Given the description of an element on the screen output the (x, y) to click on. 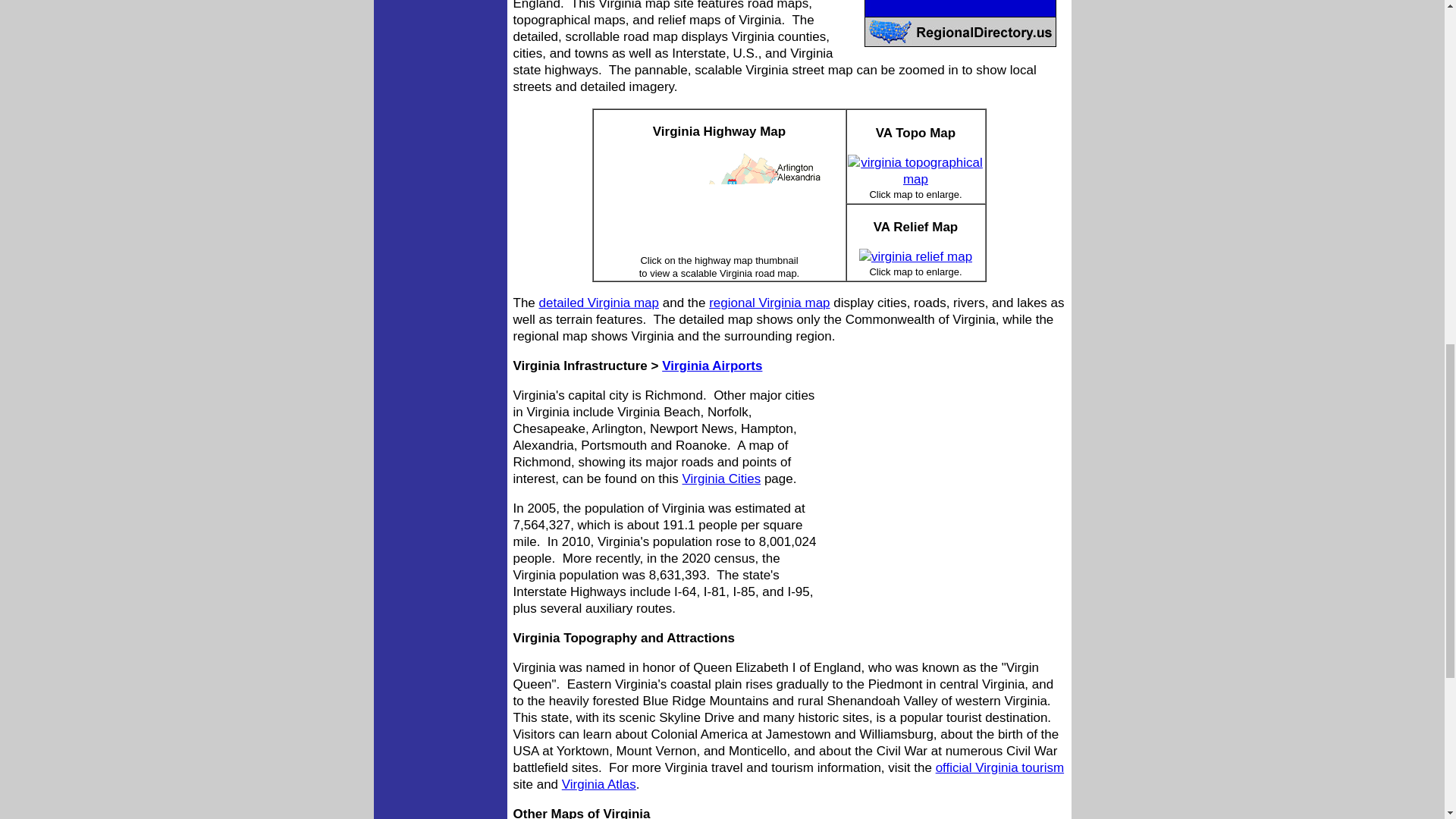
detailed Virginia map (598, 302)
Virginia Airports (711, 365)
Advertisement (944, 488)
Virginia Atlas (599, 784)
Virginia Cities (721, 478)
regional Virginia map (769, 302)
official Virginia tourism (1000, 767)
